Given the description of an element on the screen output the (x, y) to click on. 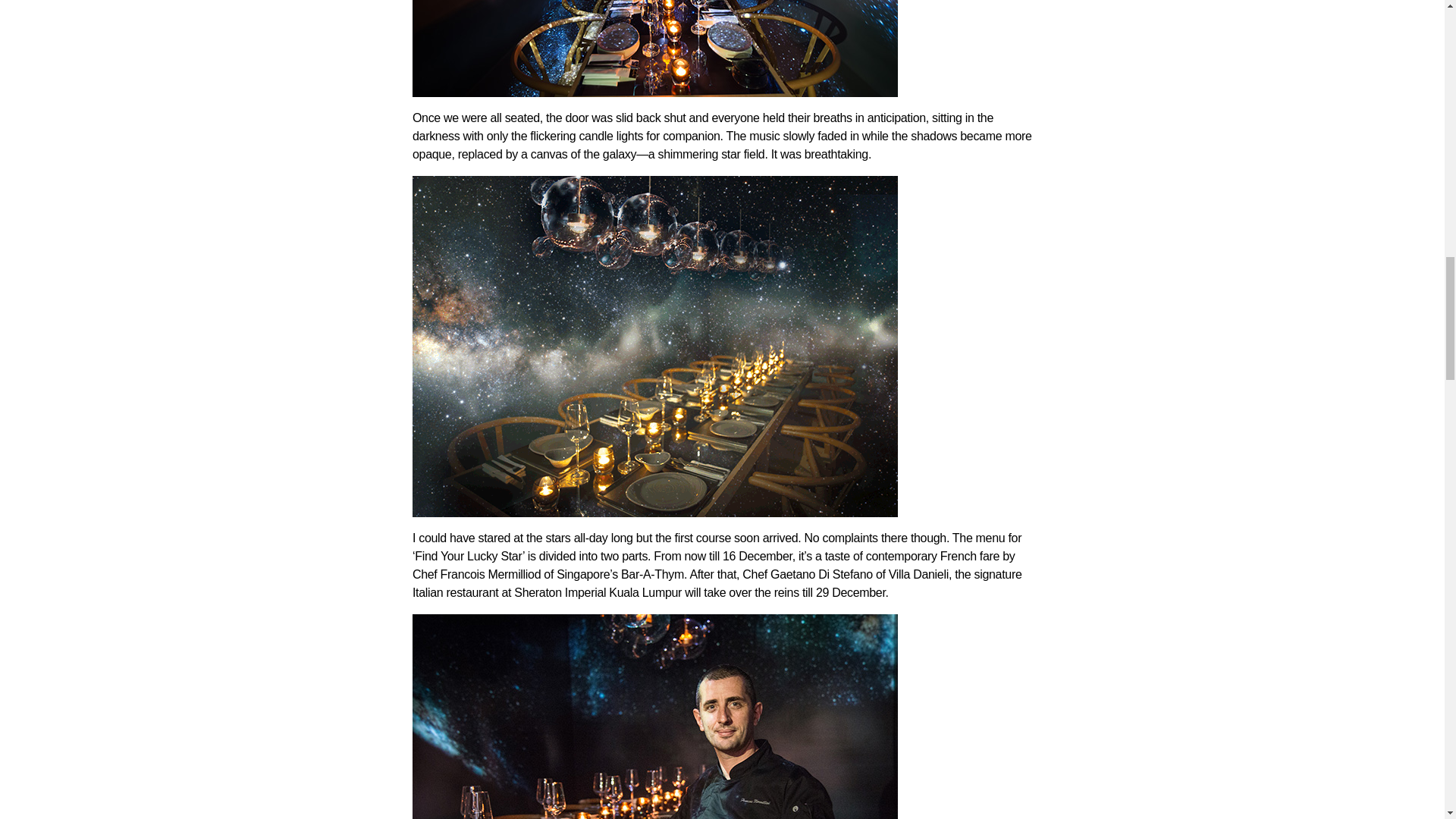
The experience only seats 12 people at a time (655, 48)
